Given the description of an element on the screen output the (x, y) to click on. 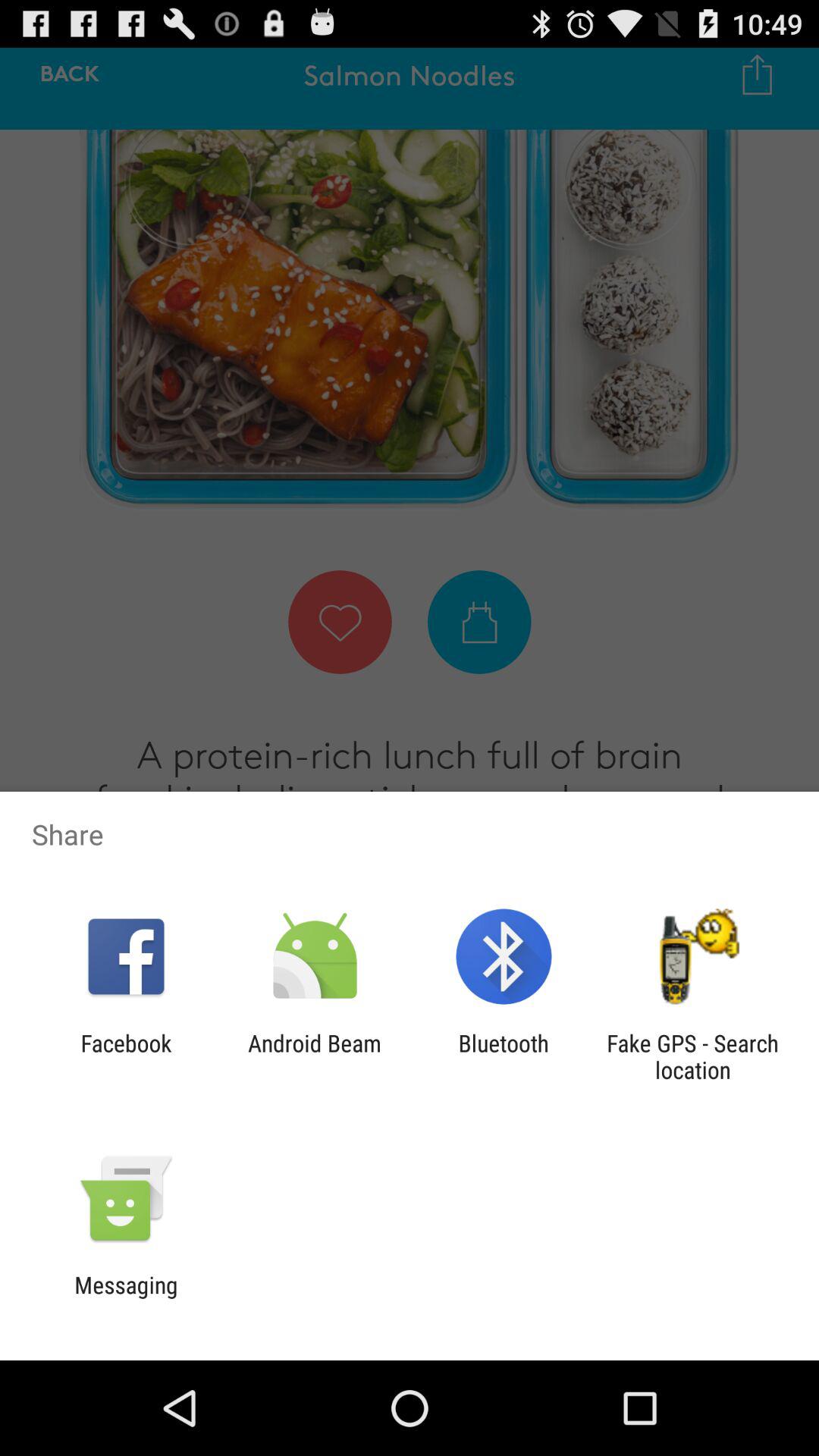
launch the messaging icon (126, 1298)
